Given the description of an element on the screen output the (x, y) to click on. 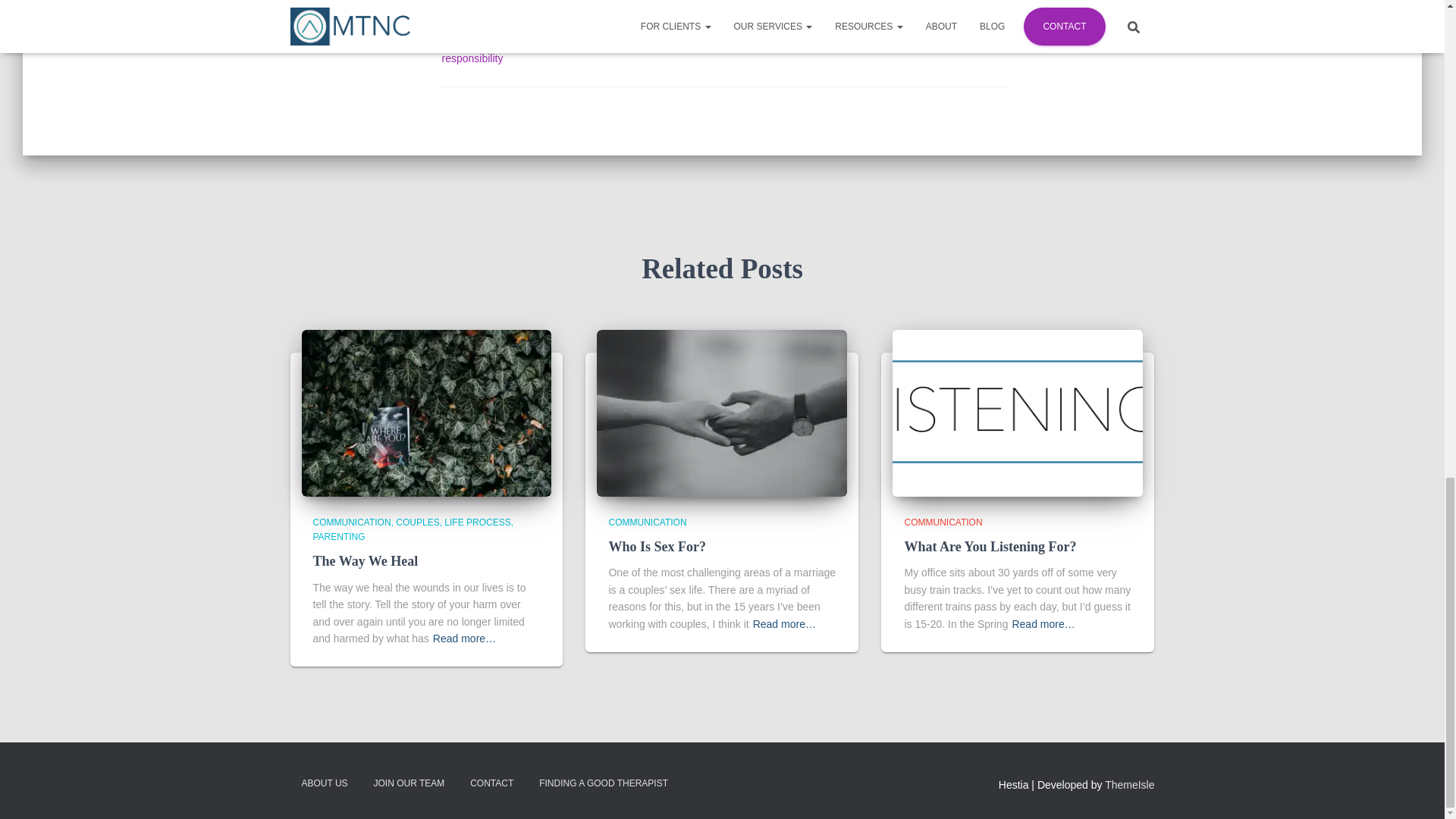
COMMUNICATION (542, 8)
discipline (491, 33)
parenting (612, 33)
kids (573, 33)
PARENTING (625, 8)
responsibility (471, 58)
presence (663, 33)
engage (538, 33)
